Given the description of an element on the screen output the (x, y) to click on. 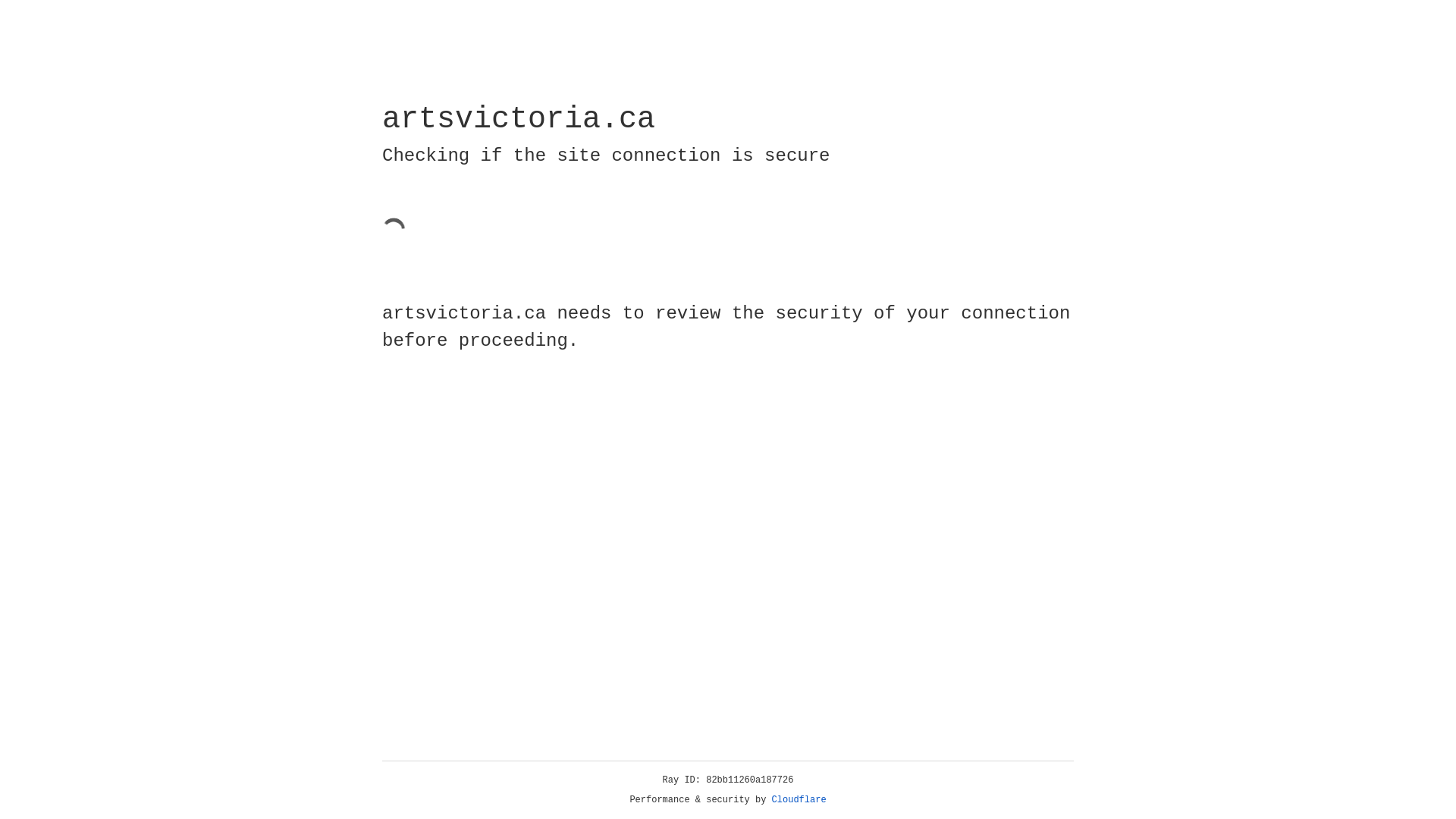
Cloudflare Element type: text (798, 799)
